Given the description of an element on the screen output the (x, y) to click on. 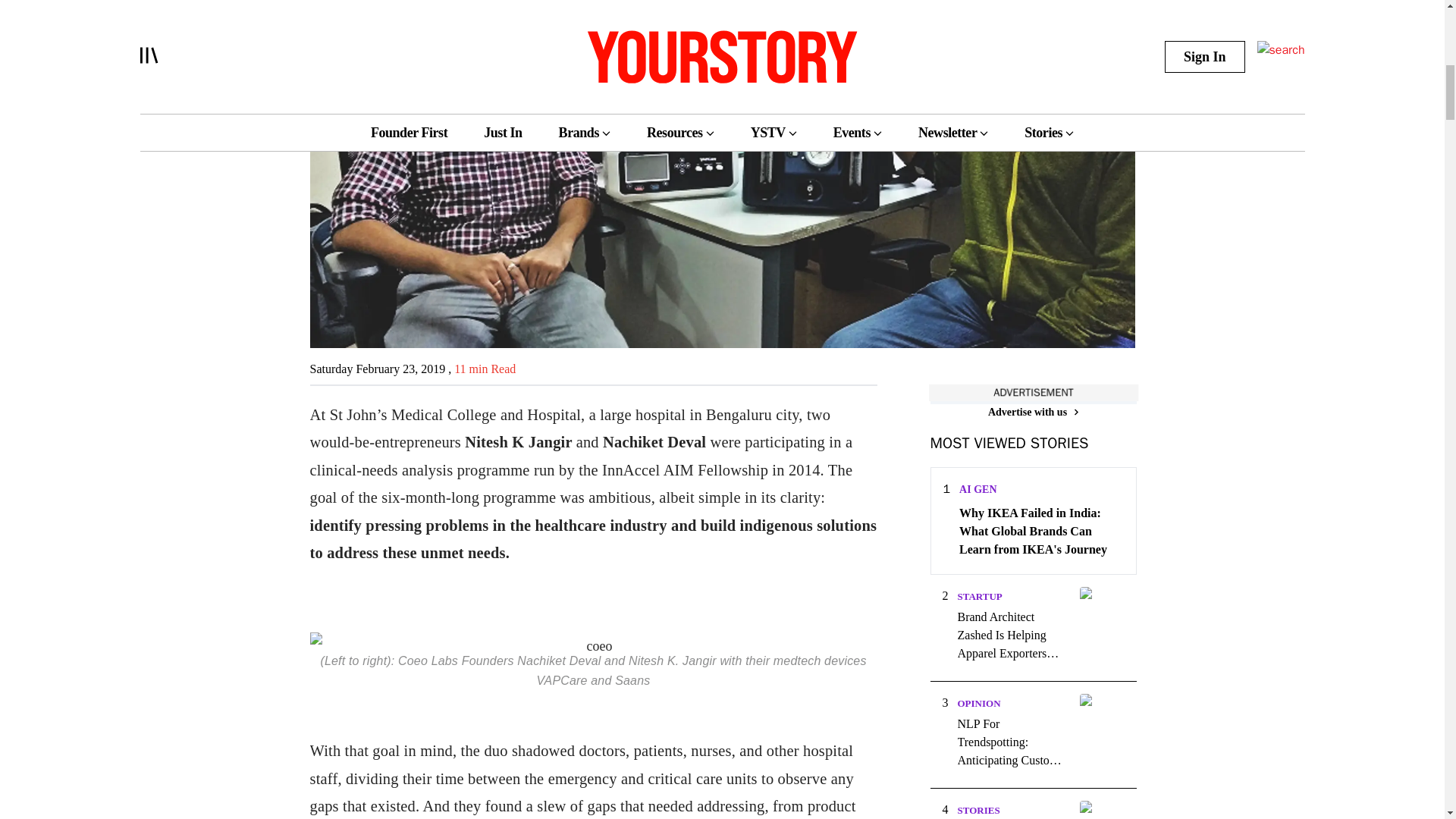
OPINION (978, 703)
STORIES (977, 809)
AI GEN (977, 489)
STARTUP (978, 595)
Advertise with us (1032, 412)
